Given the description of an element on the screen output the (x, y) to click on. 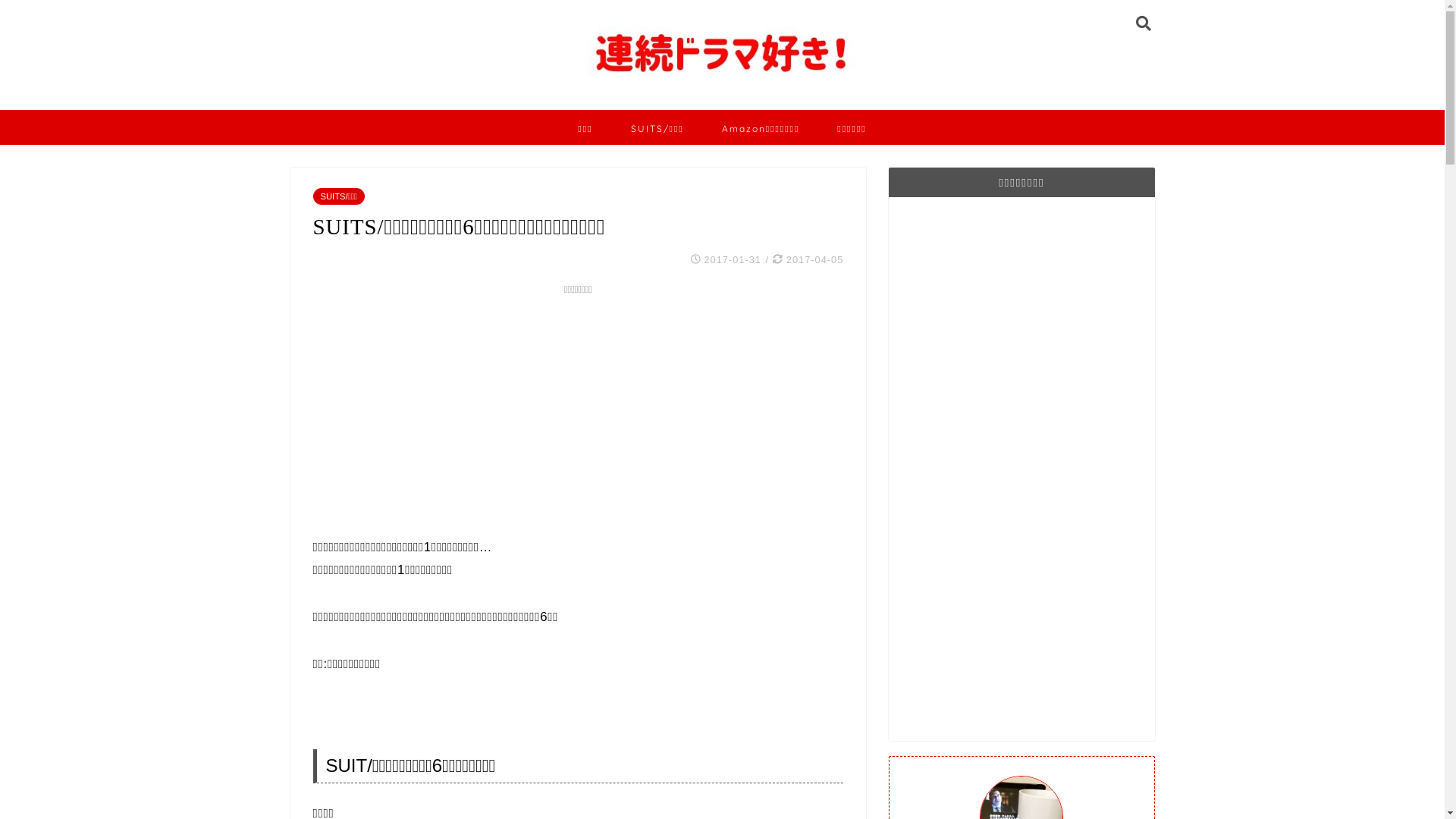
Advertisement Element type: hover (577, 407)
Advertisement Element type: hover (1021, 468)
